Given the description of an element on the screen output the (x, y) to click on. 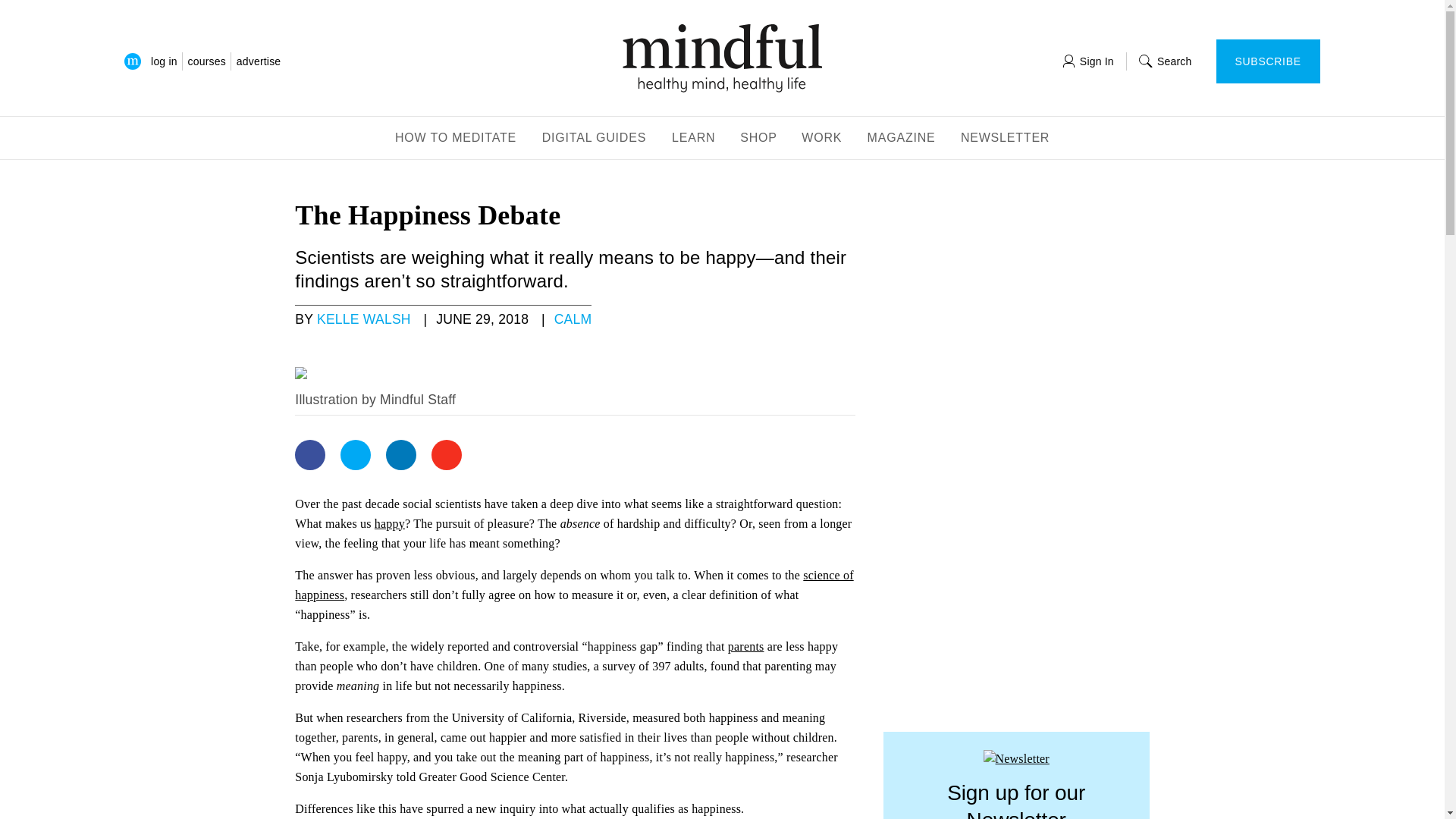
WORK (822, 139)
SHOP (758, 139)
log in (164, 60)
Search (1165, 60)
advertise (258, 60)
Sign In (1087, 60)
SUBSCRIBE (1267, 61)
courses (206, 60)
MAGAZINE (902, 139)
HOW TO MEDITATE (455, 139)
LEARN (693, 139)
DIGITAL GUIDES (594, 139)
NEWSLETTER (1004, 139)
